Given the description of an element on the screen output the (x, y) to click on. 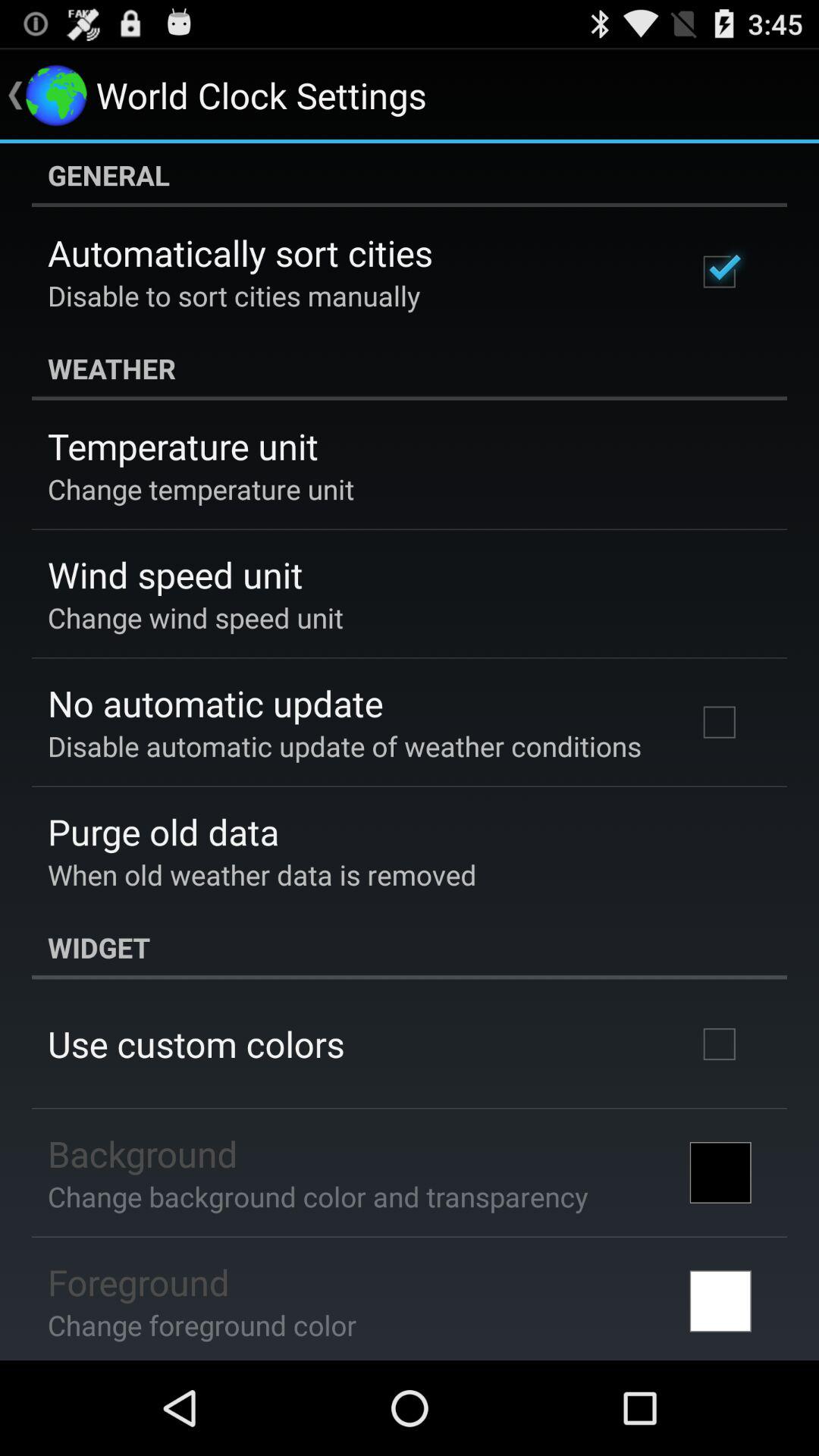
turn on the icon below purge old data item (261, 874)
